Given the description of an element on the screen output the (x, y) to click on. 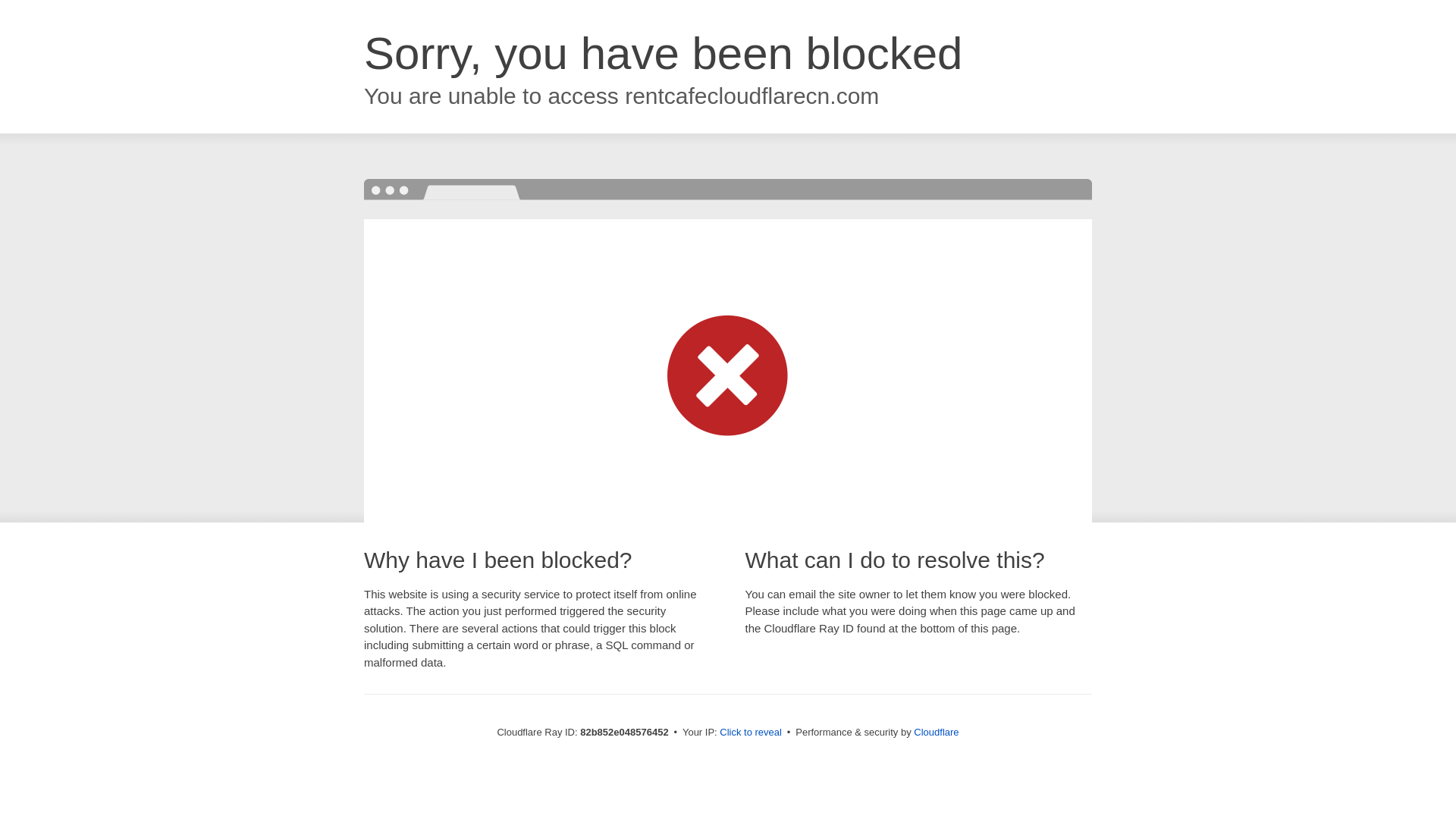
Click to reveal Element type: text (750, 732)
Cloudflare Element type: text (935, 731)
